Given the description of an element on the screen output the (x, y) to click on. 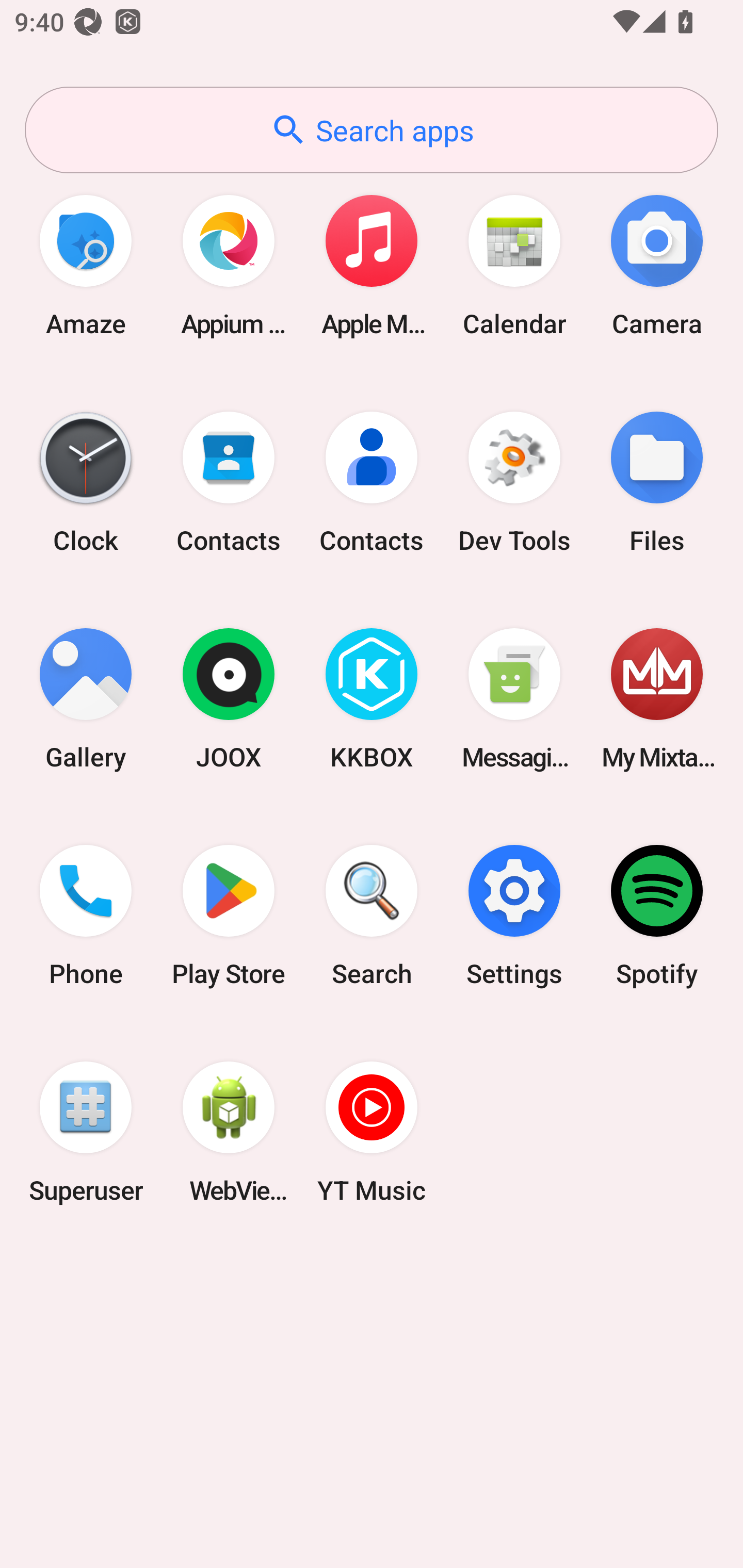
  Search apps (371, 130)
Amaze (85, 264)
Appium Settings (228, 264)
Apple Music (371, 264)
Calendar (514, 264)
Camera (656, 264)
Clock (85, 482)
Contacts (228, 482)
Contacts (371, 482)
Dev Tools (514, 482)
Files (656, 482)
Gallery (85, 699)
JOOX (228, 699)
KKBOX (371, 699)
Messaging (514, 699)
My Mixtapez (656, 699)
Phone (85, 915)
Play Store (228, 915)
Search (371, 915)
Settings (514, 915)
Spotify (656, 915)
Superuser (85, 1131)
WebView Browser Tester (228, 1131)
YT Music (371, 1131)
